Given the description of an element on the screen output the (x, y) to click on. 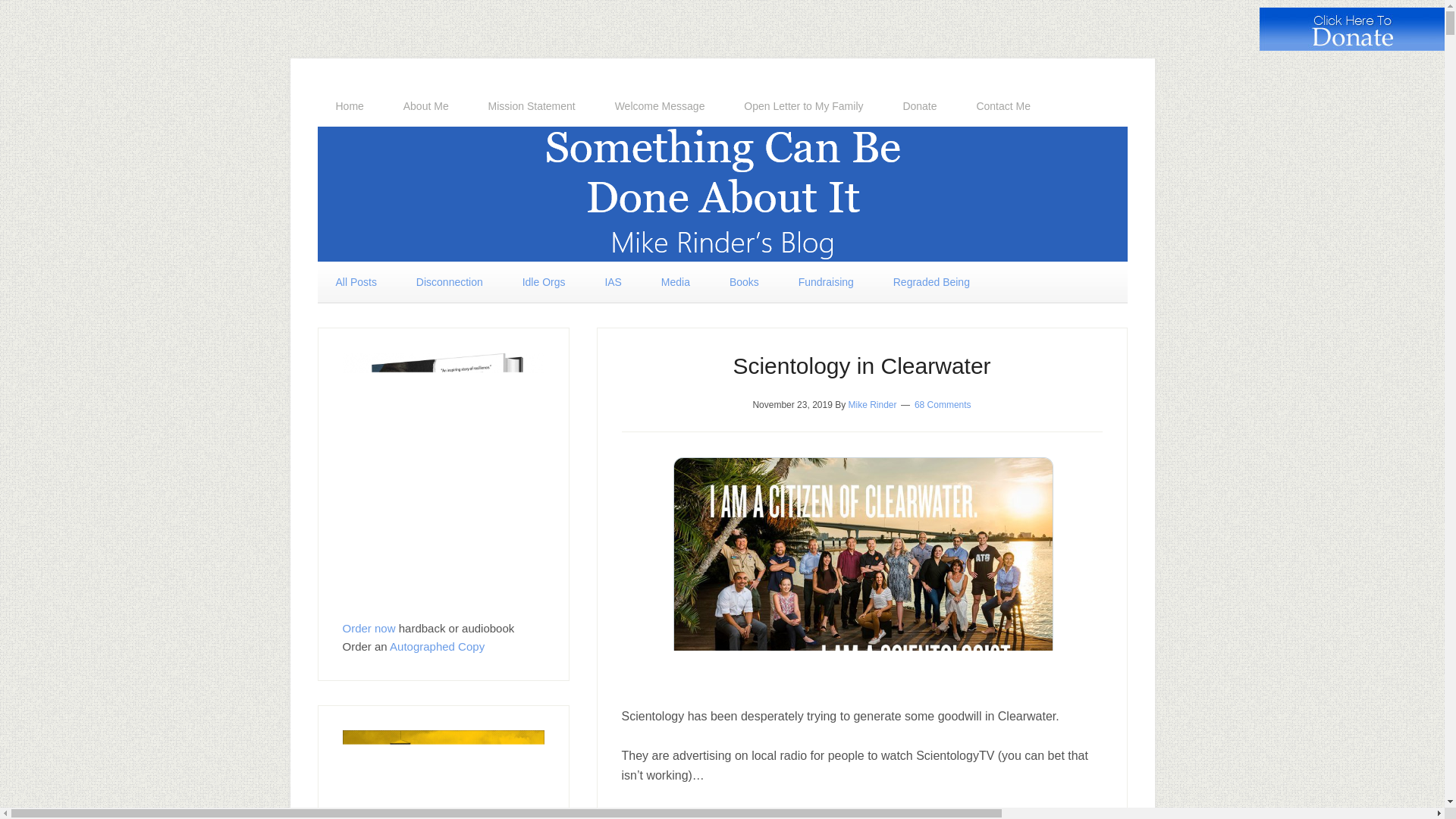
All Posts (355, 281)
Contact Me (1003, 105)
Donate (919, 105)
Idle Orgs (543, 281)
Disconnection (448, 281)
Home (349, 105)
IAS (613, 281)
Media (675, 281)
Fundraising (826, 281)
About Me (426, 105)
